Given the description of an element on the screen output the (x, y) to click on. 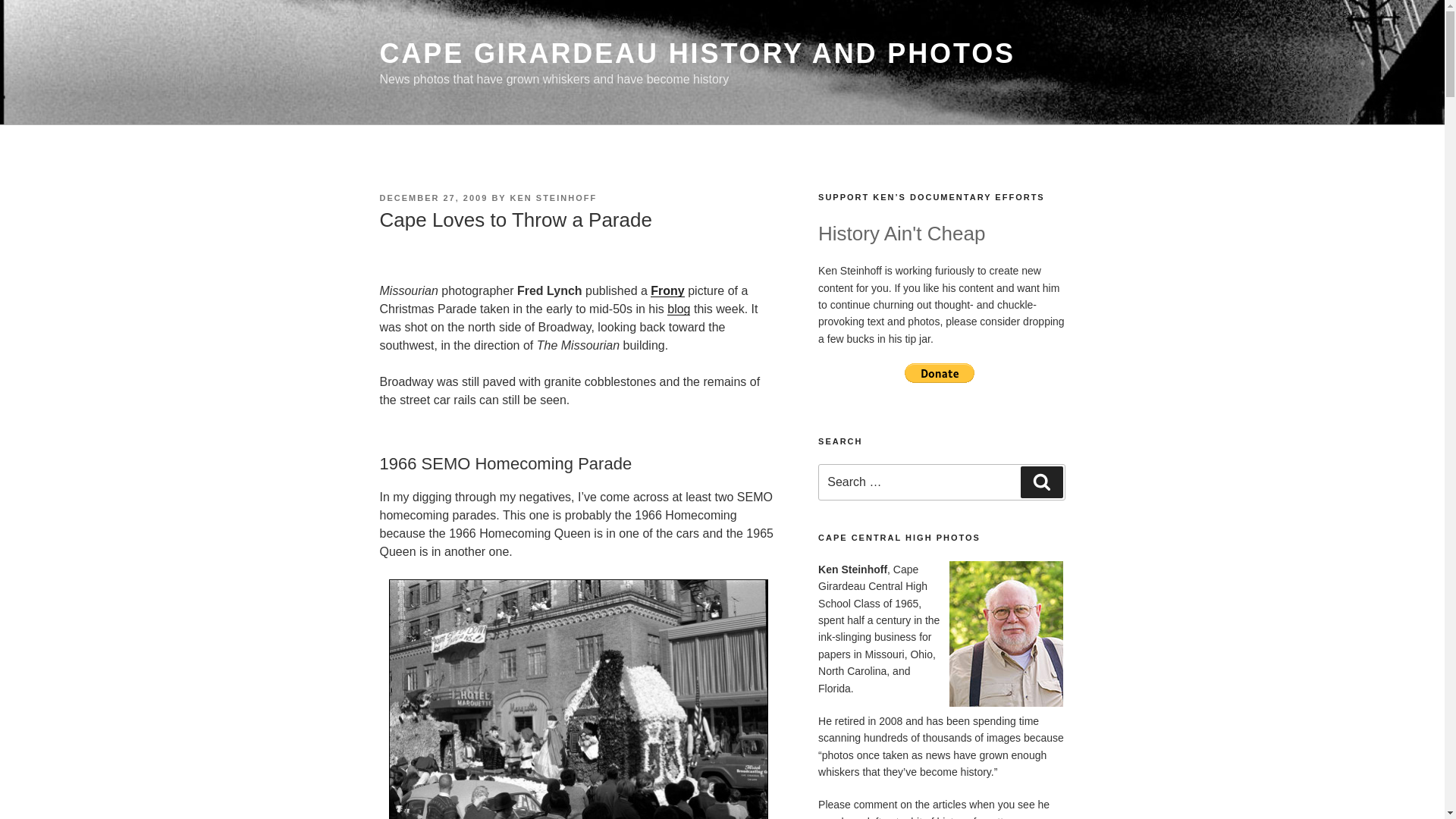
Link to Fred Lynch's blog in Southeast Missourian (678, 308)
blog (678, 308)
Frony (667, 290)
Link to story about Frony (667, 290)
1966 SEMO Homecoming Parade in front of Marquette Hotel (578, 699)
DECEMBER 27, 2009 (432, 197)
CAPE GIRARDEAU HISTORY AND PHOTOS (696, 52)
KEN STEINHOFF (553, 197)
